Given the description of an element on the screen output the (x, y) to click on. 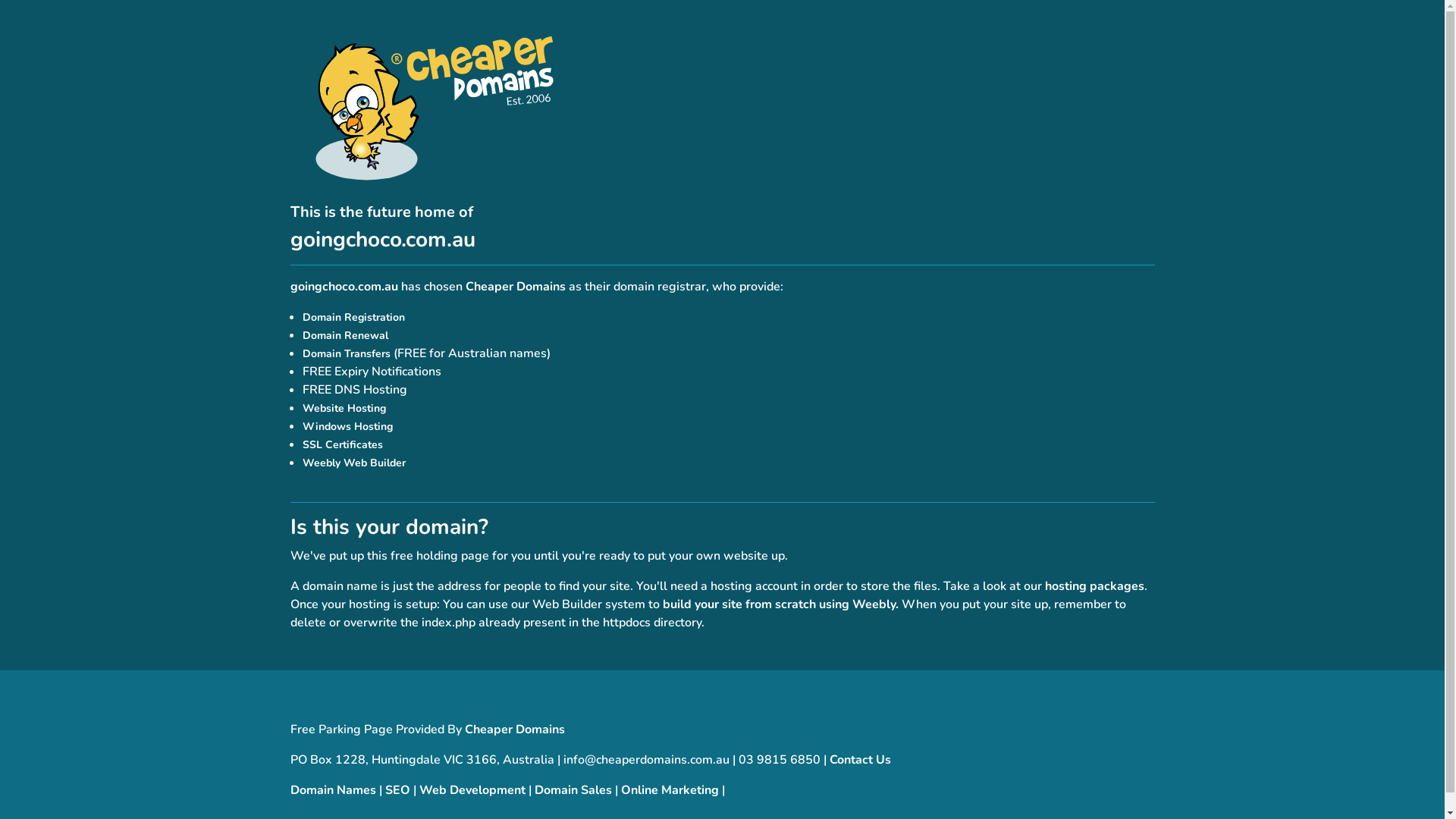
Website Hosting Element type: text (343, 408)
Cheaper Domains Element type: text (514, 729)
Contact Us Element type: text (860, 759)
Cheaper Domains Element type: text (515, 286)
Online Marketing Element type: text (669, 789)
SEO Element type: text (397, 789)
Weebly Web Builder Element type: text (352, 462)
SSL Certificates Element type: text (341, 444)
Domain Transfers Element type: text (345, 353)
hosting packages Element type: text (1094, 585)
Domain Names Element type: text (332, 789)
Domain Renewal Element type: text (344, 335)
Web Development Element type: text (471, 789)
Windows Hosting Element type: text (346, 426)
Domain Sales Element type: text (572, 789)
Domain Registration Element type: text (352, 317)
build your site from scratch using Weebly. Element type: text (780, 604)
